Given the description of an element on the screen output the (x, y) to click on. 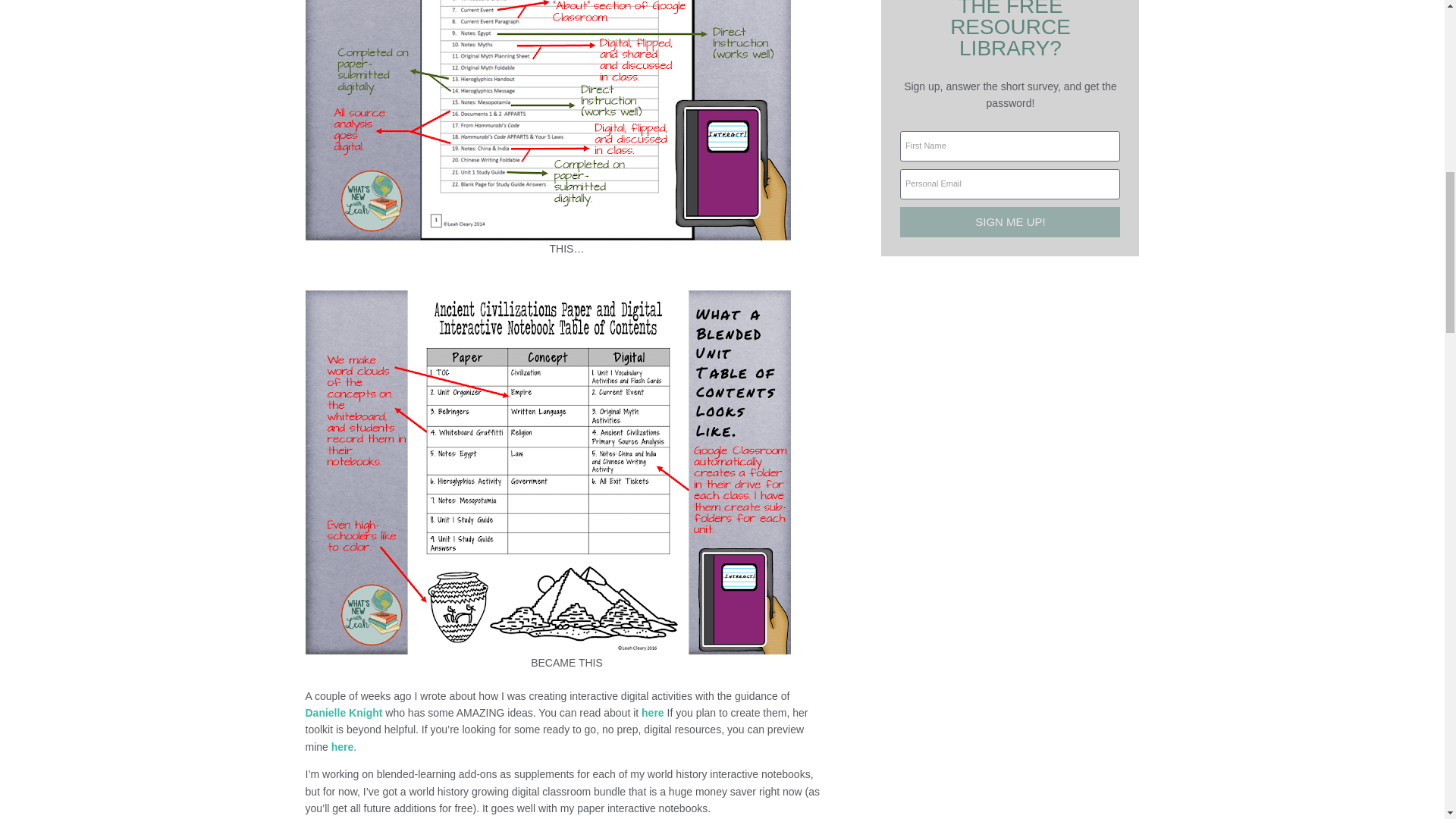
Danielle Knight (342, 712)
here (652, 712)
here (342, 746)
